Given the description of an element on the screen output the (x, y) to click on. 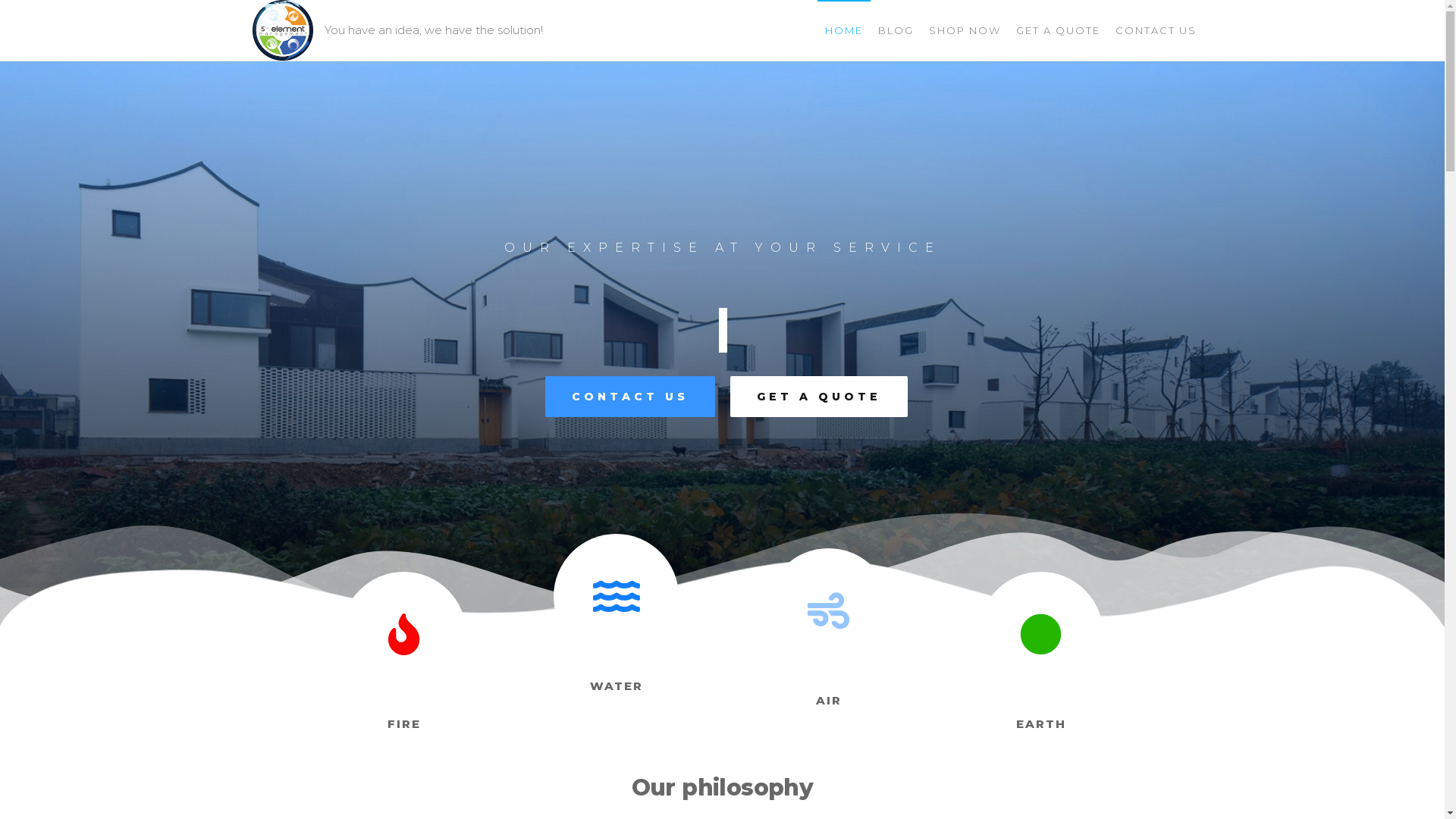
GET A QUOTE Element type: text (1057, 30)
SHOP NOW Element type: text (963, 30)
CONTACT US Element type: text (629, 396)
GET A QUOTE Element type: text (817, 396)
BLOG Element type: text (895, 30)
CONTACT US Element type: text (1155, 30)
HOME Element type: text (843, 30)
